Given the description of an element on the screen output the (x, y) to click on. 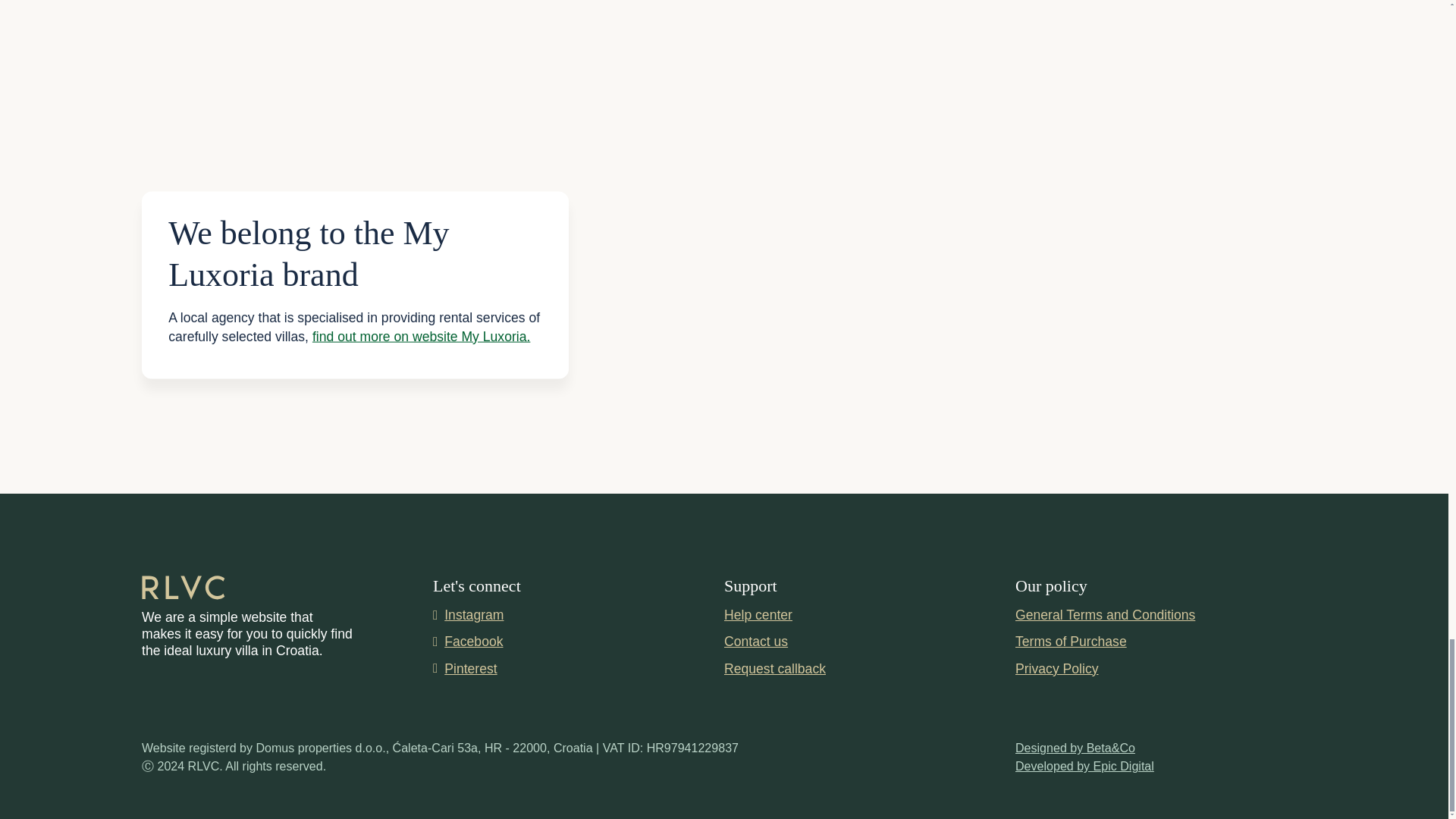
find out more on website My Luxoria. (422, 335)
Request callback (774, 668)
Instagram (577, 614)
Contact us (755, 641)
Privacy Policy (1056, 669)
Help center (757, 616)
Developed by Epic Digital (1084, 766)
General Terms and Conditions (1104, 616)
Pinterest (577, 668)
Facebook (577, 641)
Help center (757, 616)
Terms of Purchase (1070, 642)
Home Page (183, 588)
General Terms and Conditions (1104, 616)
Privacy Policy (1056, 669)
